Given the description of an element on the screen output the (x, y) to click on. 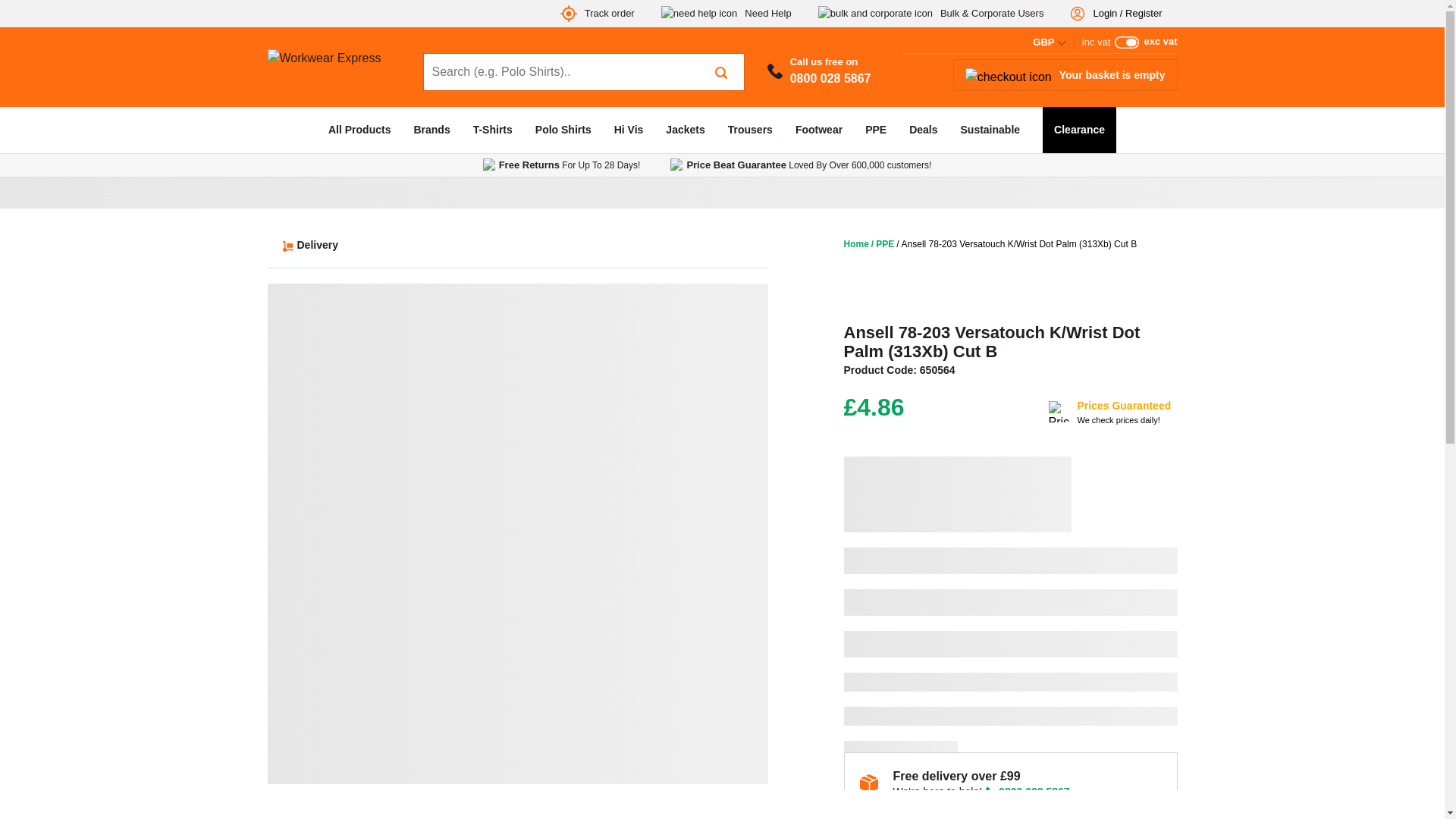
Need Help (818, 70)
Your basket is empty (726, 13)
Track order (1065, 74)
GBP (597, 13)
All Products (1049, 42)
